Given the description of an element on the screen output the (x, y) to click on. 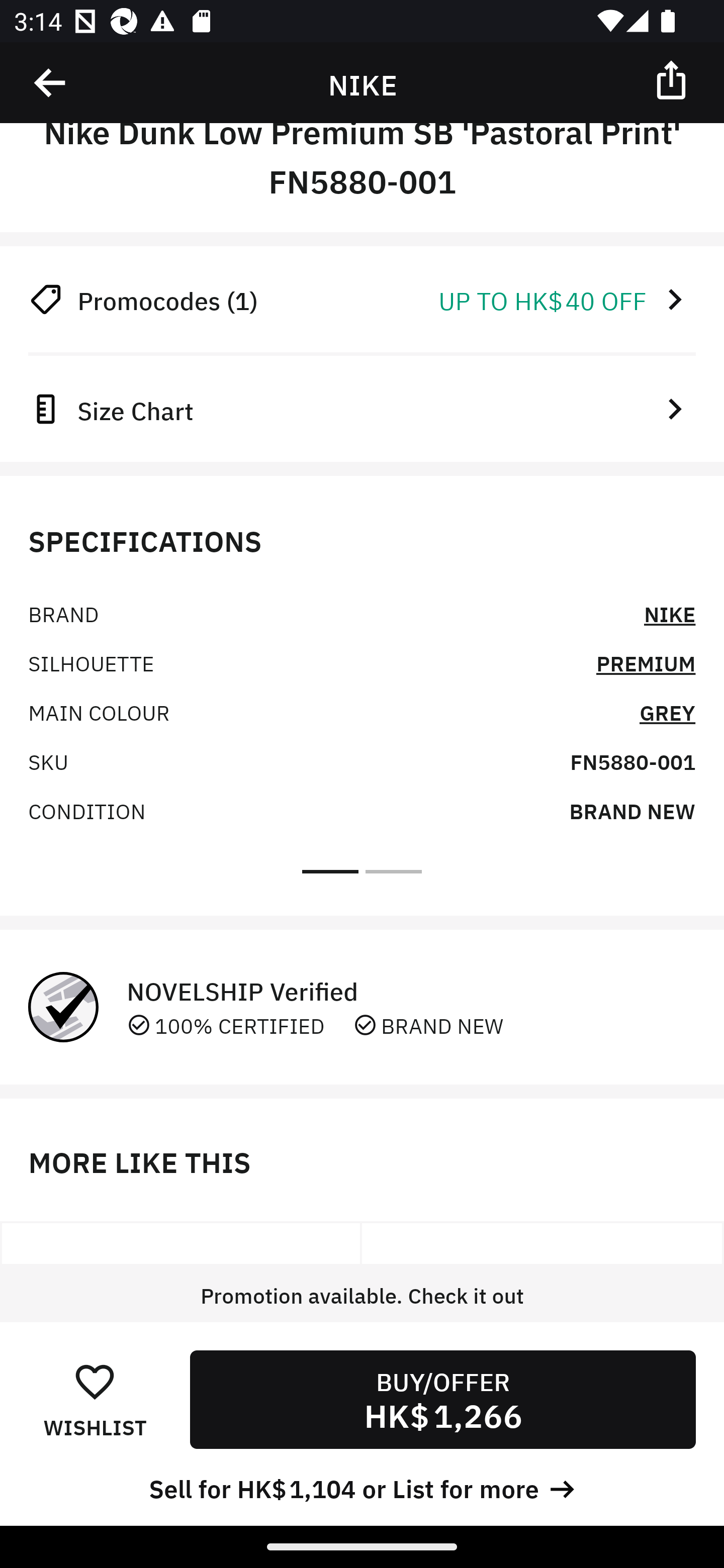
 (50, 83)
 (672, 79)
Promocodes (1) UP TO HK$ 40 OFF  (361, 298)
Size Chart  (361, 408)
NIKE (669, 612)
PREMIUM (645, 662)
GREY (667, 711)
FN5880-001 (632, 760)
BRAND NEW (632, 809)
BUY/OFFER HK$ 1,266 (442, 1399)
󰋕 (94, 1380)
Sell for HK$ 1,104 or List for more (361, 1486)
